Given the description of an element on the screen output the (x, y) to click on. 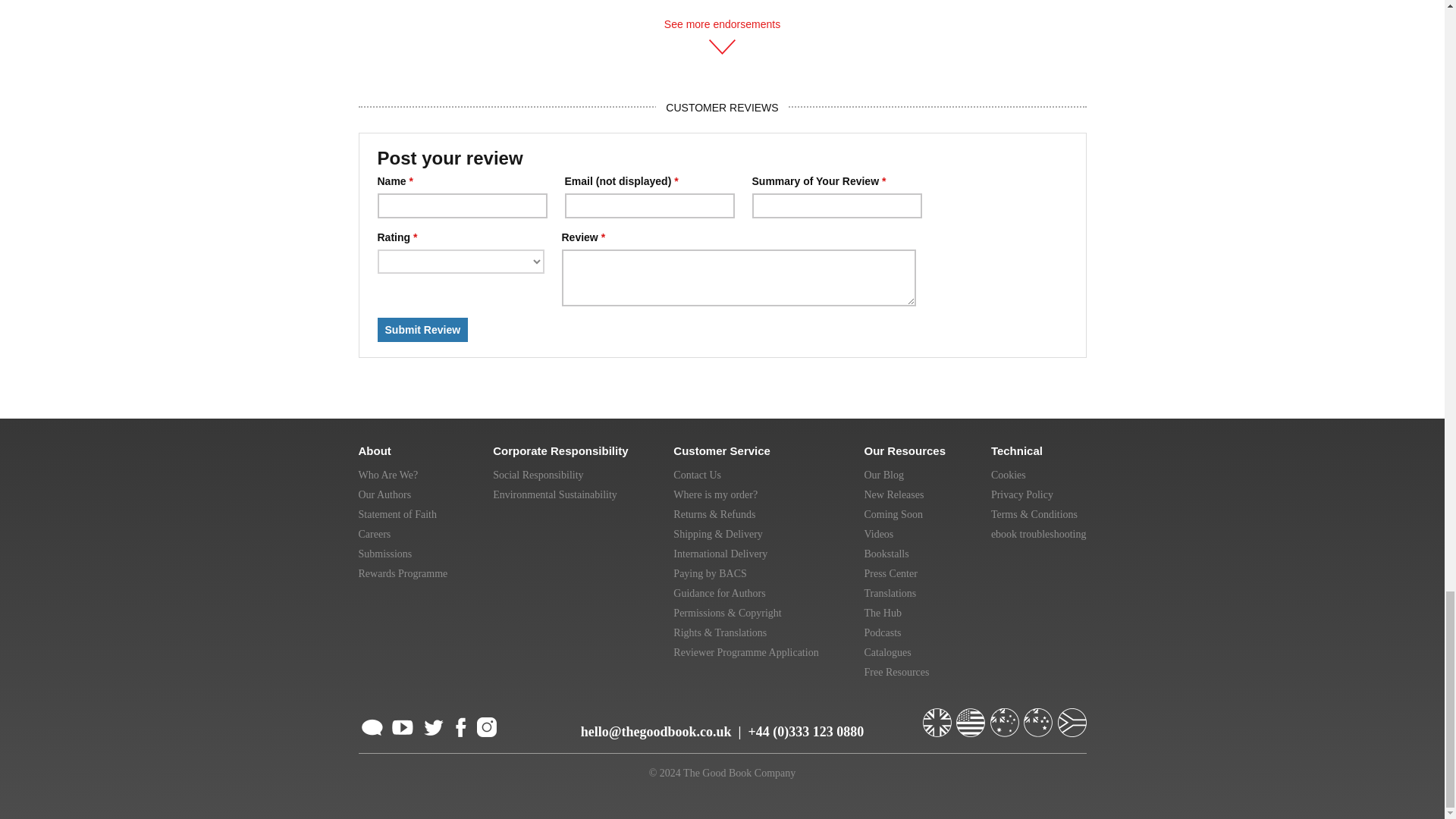
Go to US Website (972, 715)
Go to South Africa Website (1071, 715)
Submit Review (422, 329)
Go to Australia Website (1006, 715)
Subscribe to feed (371, 725)
Go to New Zealand Website (1039, 715)
Go to UK Website (937, 715)
